Given the description of an element on the screen output the (x, y) to click on. 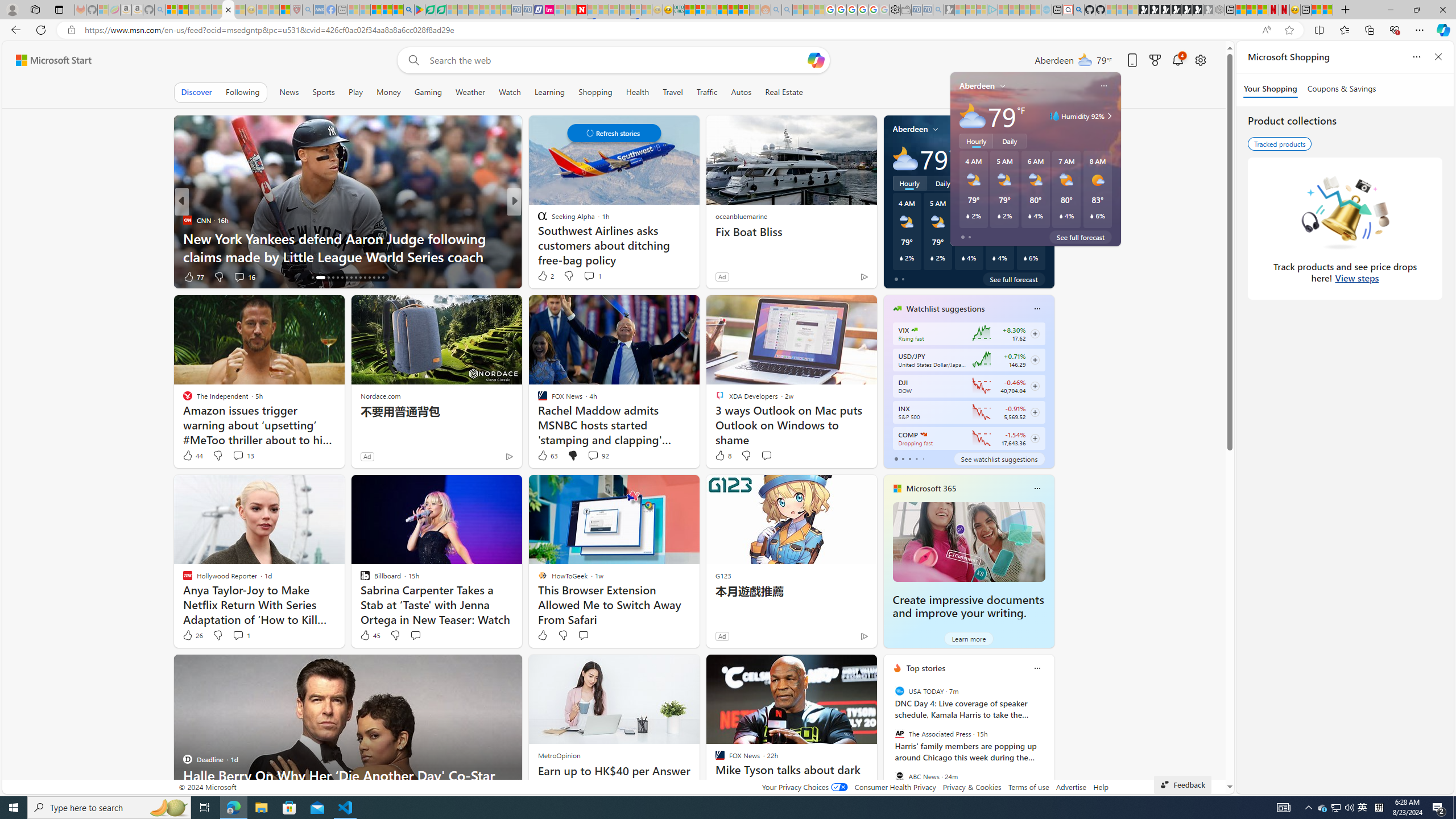
View comments 20 Comment (597, 276)
tab-3 (916, 458)
Business Insider (537, 219)
AutomationID: tab-16 (312, 277)
